Given the description of an element on the screen output the (x, y) to click on. 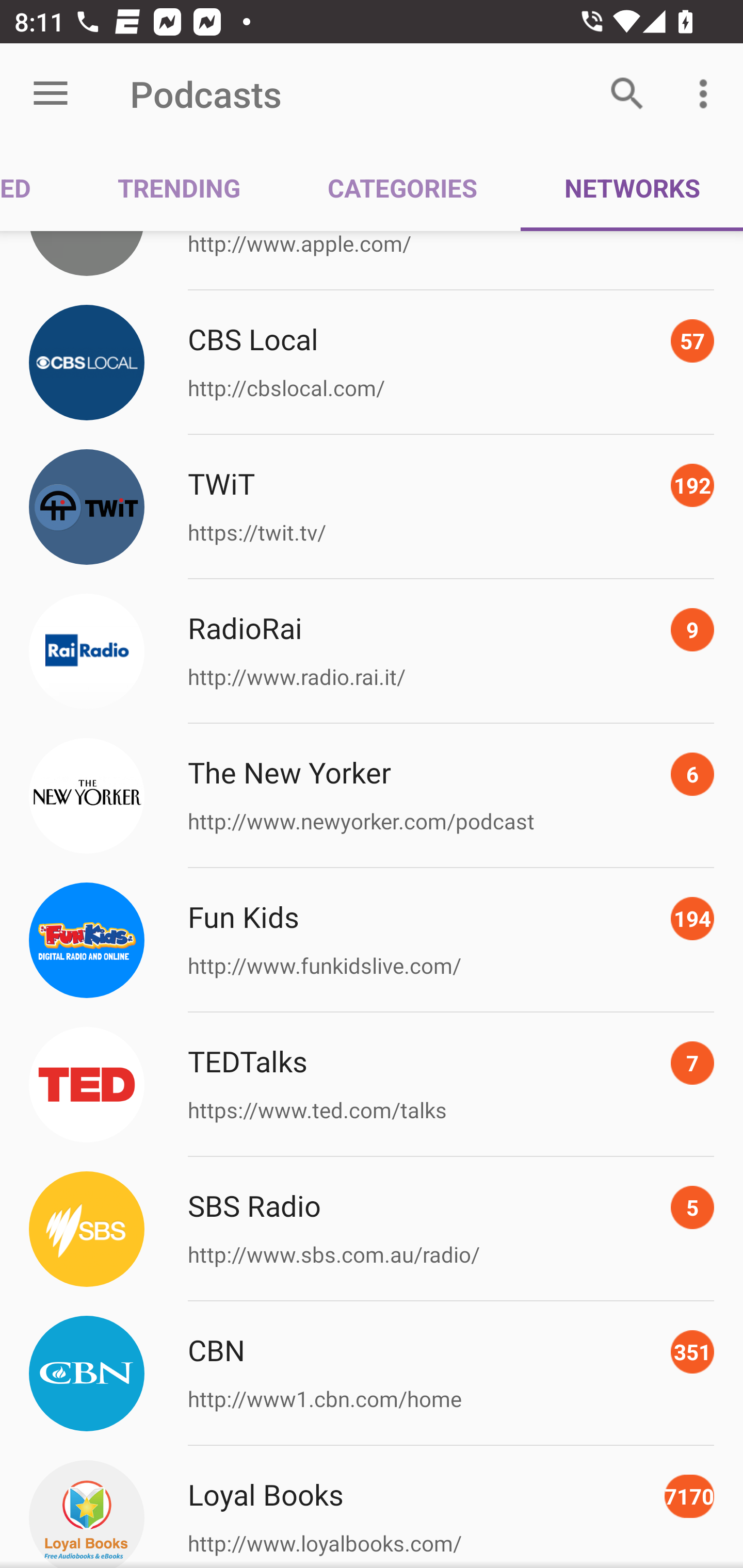
Open menu (50, 93)
Search (626, 93)
More options (706, 93)
TRENDING (178, 187)
CATEGORIES (401, 187)
NETWORKS (631, 187)
Picture http://www.apple.com/ (371, 260)
Picture CBS Local 57 http://cbslocal.com/ (371, 362)
Picture TWiT 192 https://twit.tv/ (371, 506)
Picture RadioRai 9 http://www.radio.rai.it/ (371, 651)
Picture Fun Kids 194 http://www.funkidslive.com/ (371, 940)
Picture TEDTalks 7 https://www.ted.com/talks (371, 1084)
Picture SBS Radio 5 http://www.sbs.com.au/radio/ (371, 1229)
Picture CBN 351 http://www1.cbn.com/home (371, 1373)
